Given the description of an element on the screen output the (x, y) to click on. 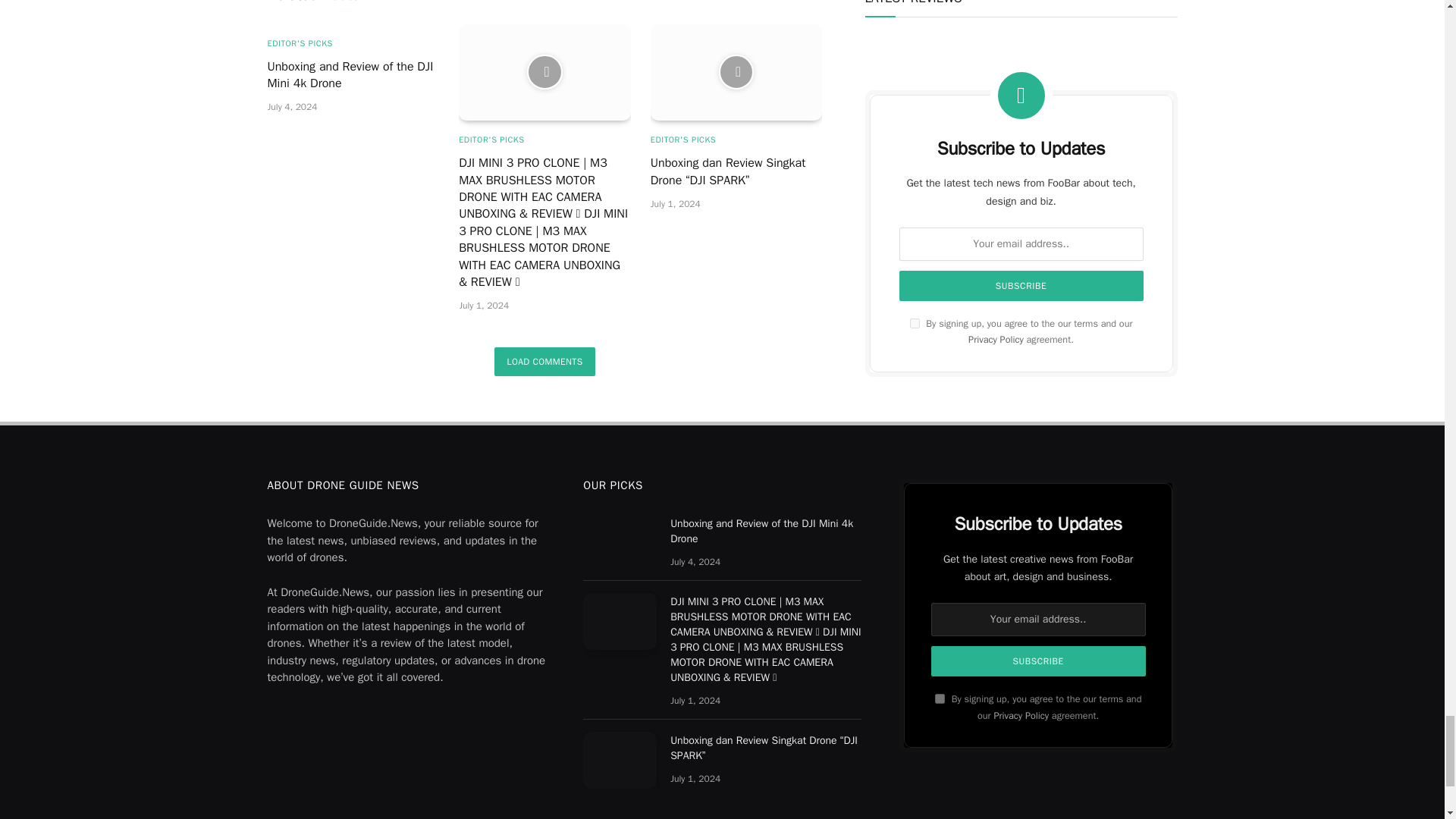
on (939, 698)
Subscribe (1038, 661)
